Given the description of an element on the screen output the (x, y) to click on. 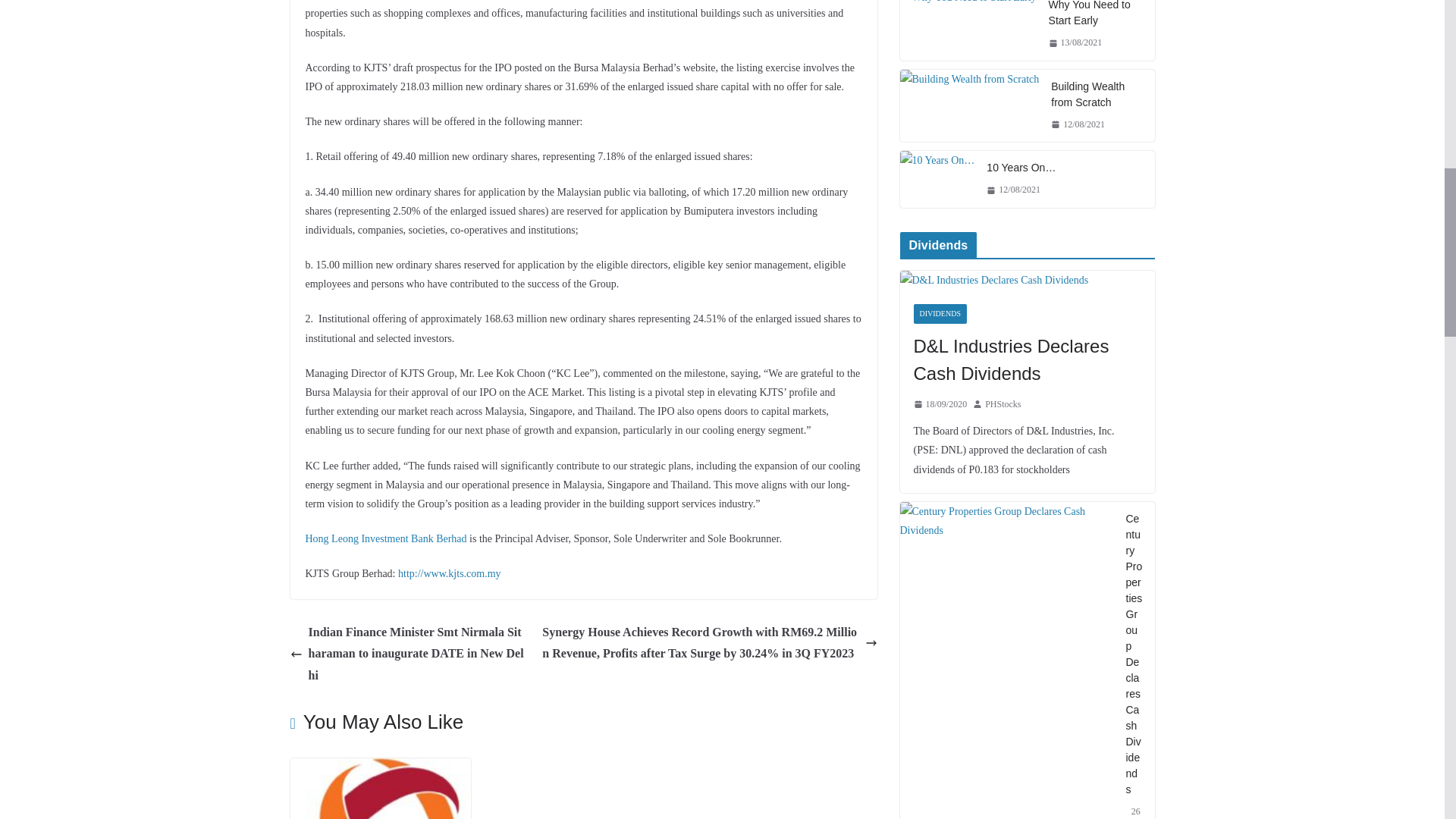
Hong Leong Investment Bank Berhad (384, 538)
